Given the description of an element on the screen output the (x, y) to click on. 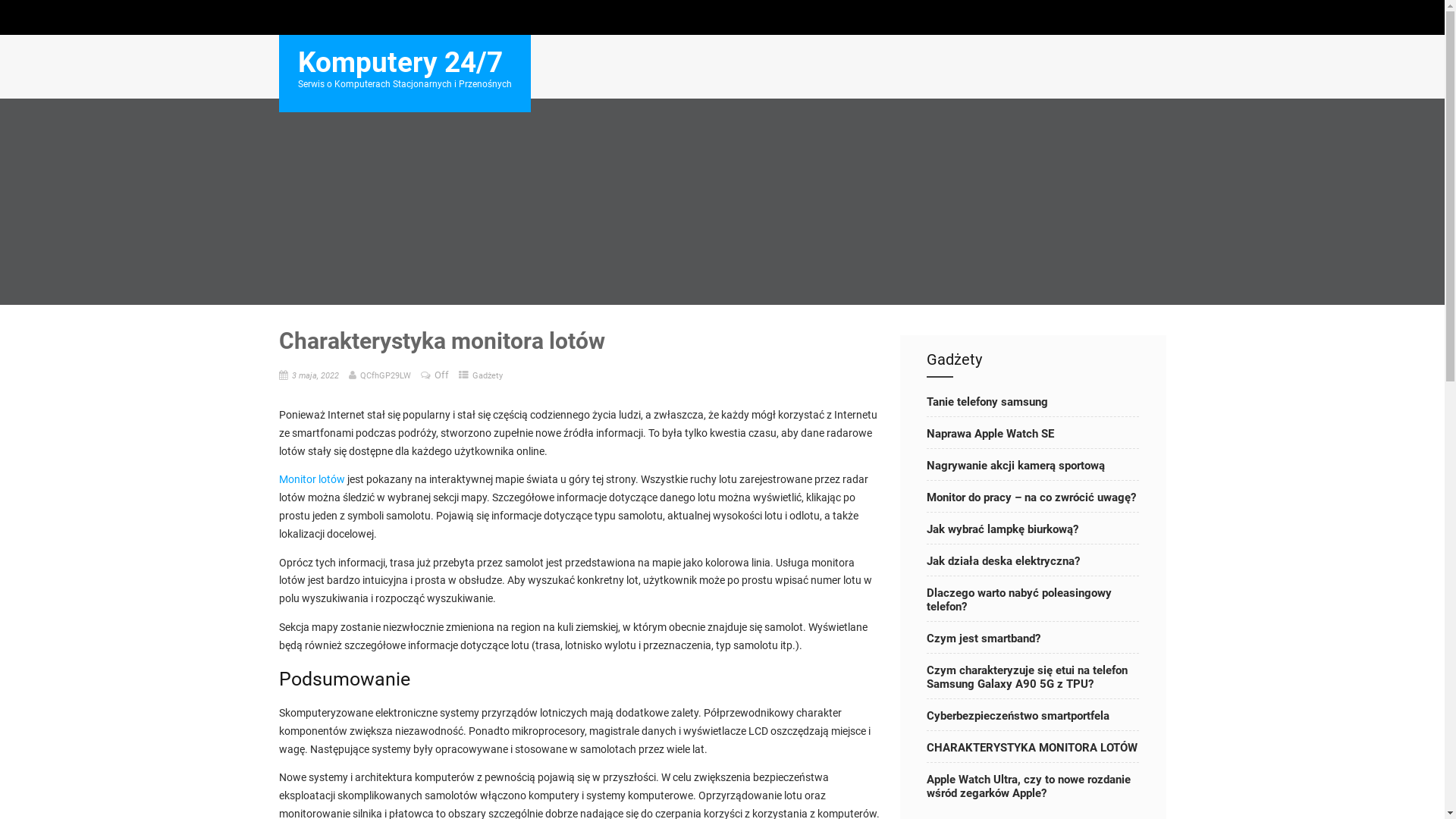
Komputery 24/7 Element type: text (399, 62)
3 maja, 2022 Element type: text (314, 375)
Naprawa Apple Watch SE Element type: text (1032, 433)
QCfhGP29LW Element type: text (384, 375)
Tanie telefony samsung Element type: text (1032, 401)
Czym jest smartband? Element type: text (1032, 638)
